Given the description of an element on the screen output the (x, y) to click on. 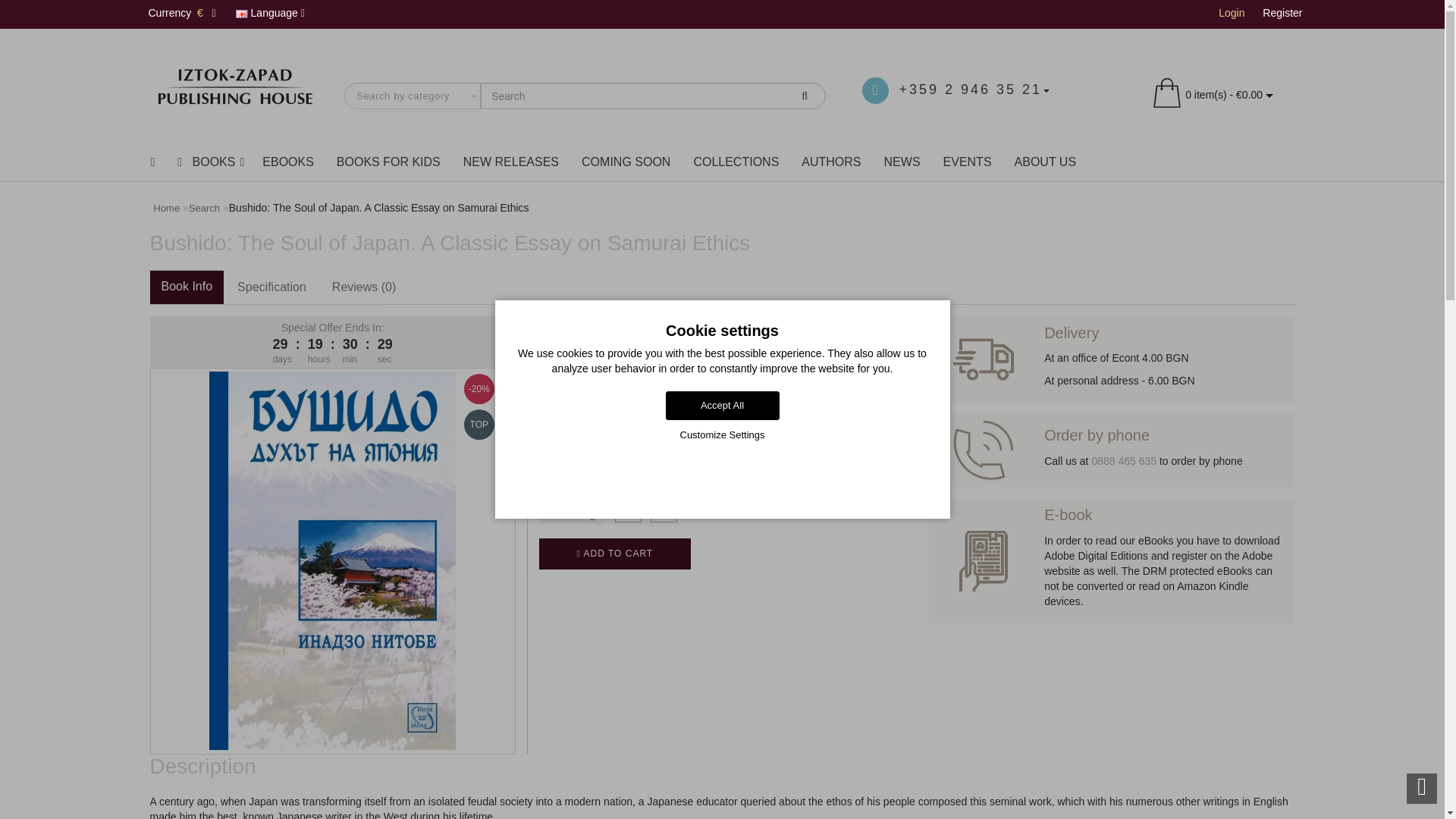
Add to Wish List (628, 509)
Language (269, 13)
Qty (561, 509)
1 (561, 509)
Register (1281, 12)
   BOOKS (207, 161)
Compare this Product (663, 509)
English (241, 13)
Login (1231, 12)
